Given the description of an element on the screen output the (x, y) to click on. 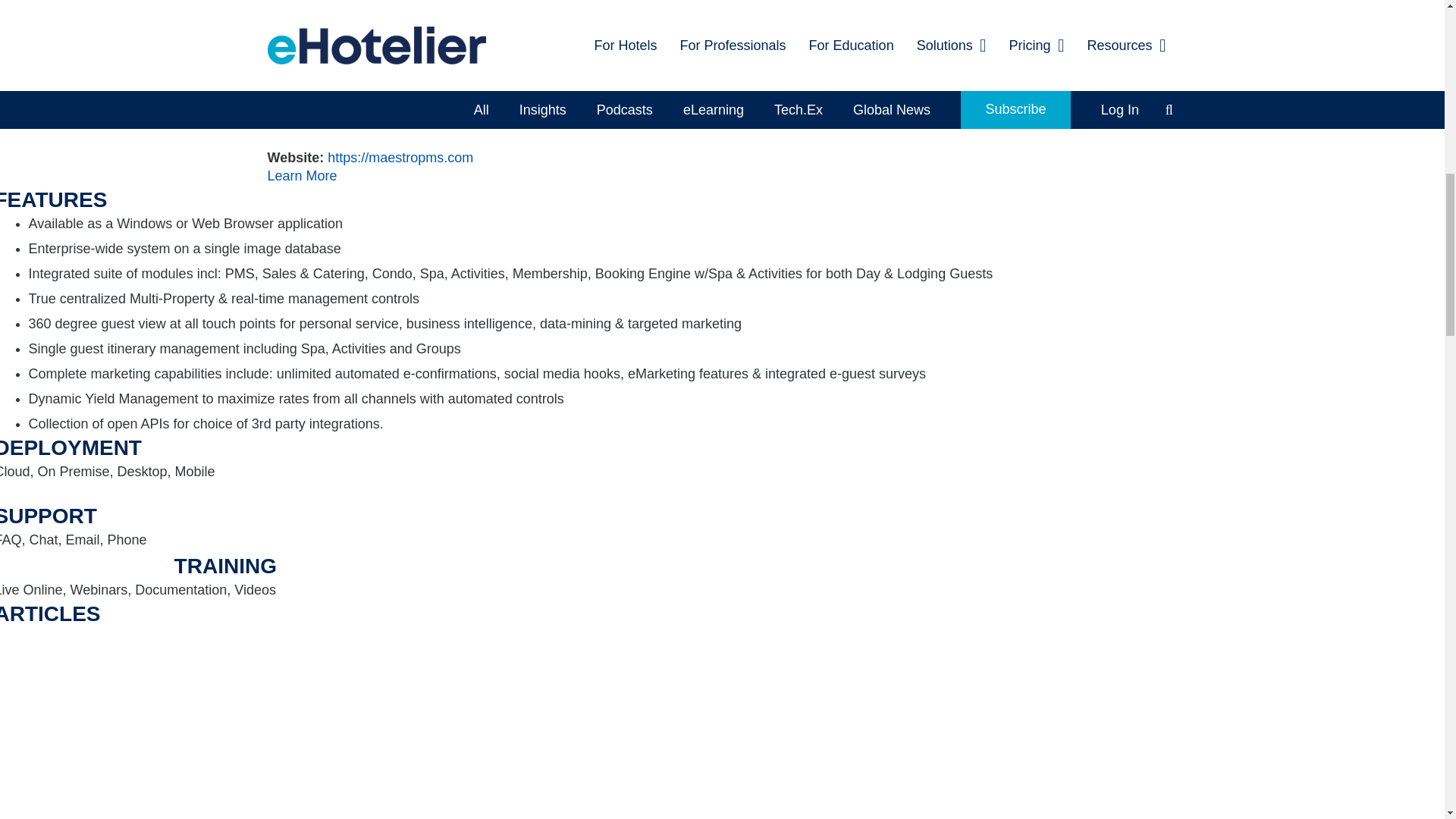
Back to top (1413, 26)
